Given the description of an element on the screen output the (x, y) to click on. 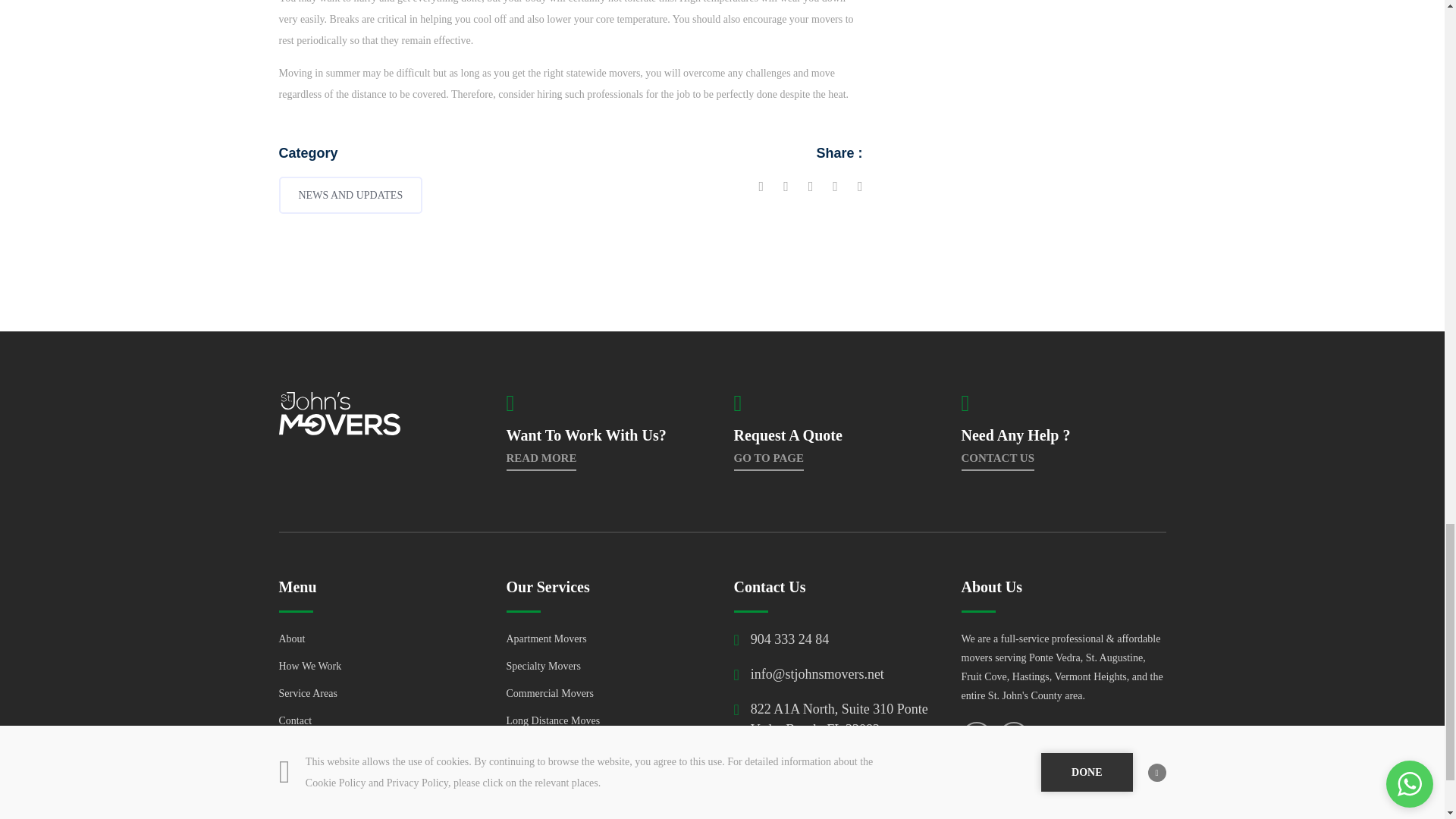
NEWS AND UPDATES (351, 194)
